Given the description of an element on the screen output the (x, y) to click on. 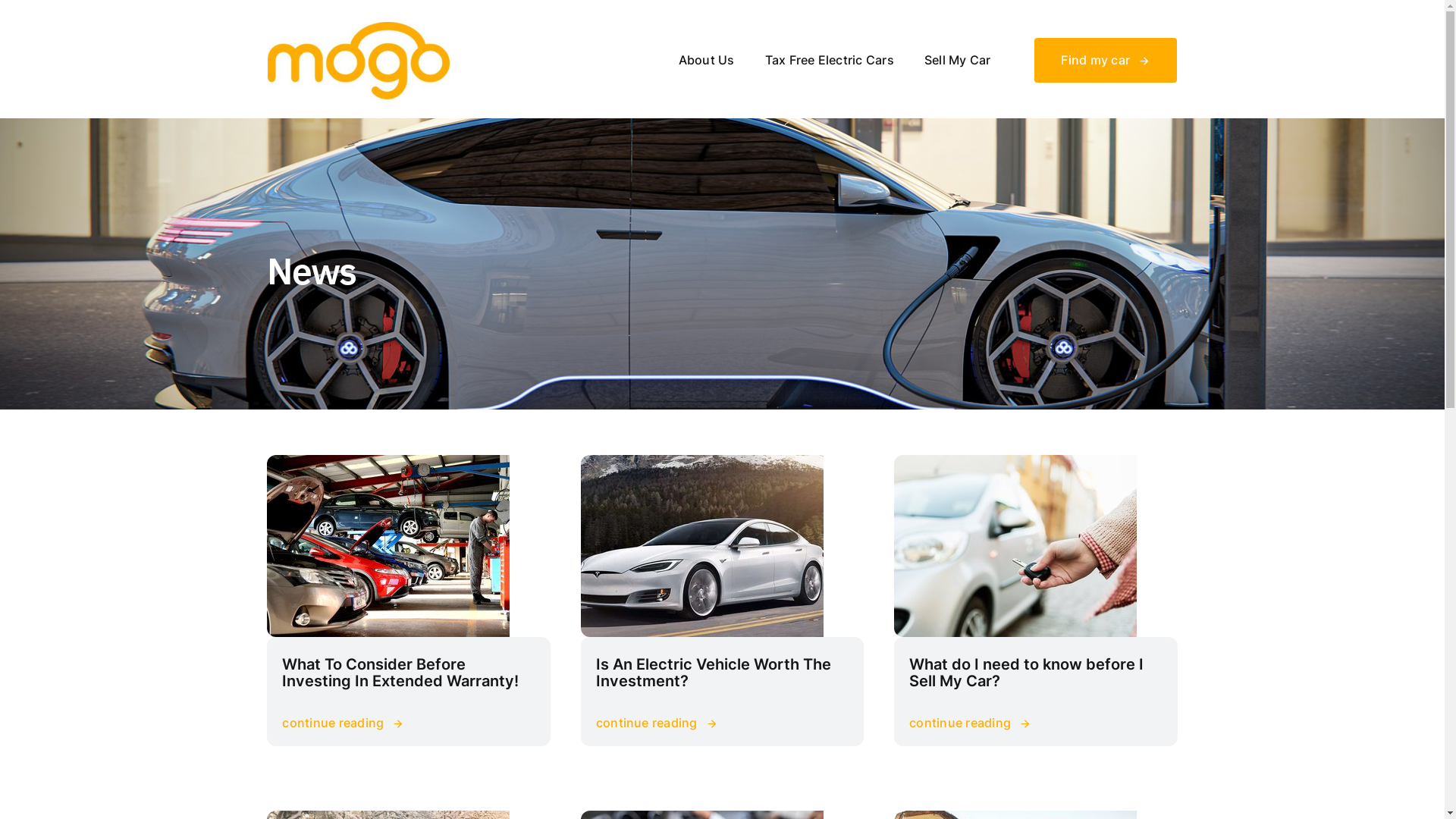
continue reading Element type: text (343, 722)
Tax Free Electric Cars Element type: text (829, 60)
continue reading Element type: text (970, 722)
Find my car Element type: text (1105, 59)
What To Consider Before Investing In Extended Warranty! Element type: text (400, 672)
continue reading Element type: text (657, 722)
Sell My Car Element type: text (957, 60)
About Us Element type: text (706, 60)
What do I need to know before I Sell My Car? Element type: text (1026, 672)
Is An Electric Vehicle Worth The Investment? Element type: text (713, 672)
